Given the description of an element on the screen output the (x, y) to click on. 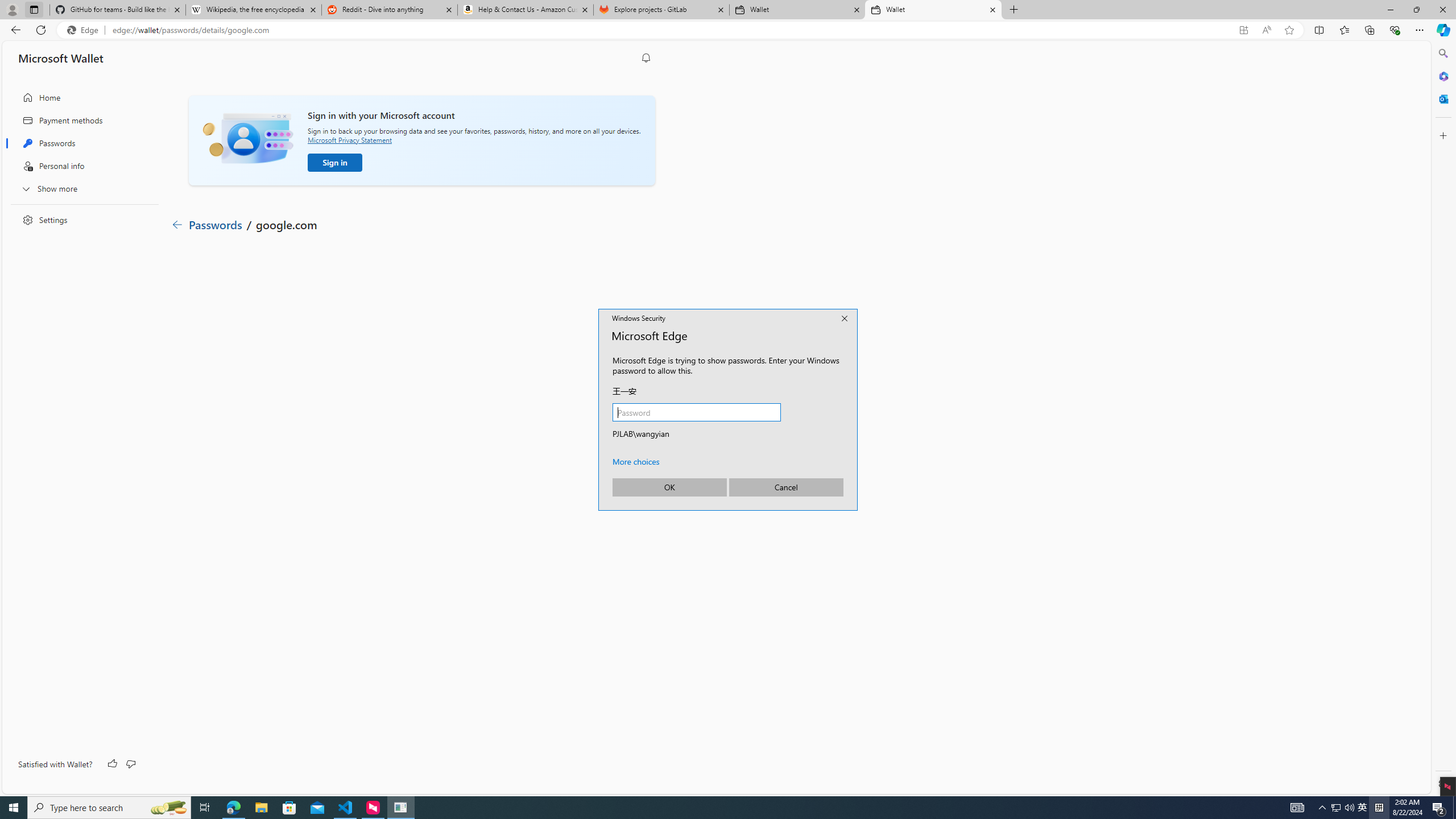
Type here to search (108, 807)
Passwords (81, 142)
OK (669, 487)
Edge (84, 29)
Password (696, 411)
Start (13, 807)
Visual Studio Code - 1 running window (345, 807)
Wallet (933, 9)
App available. Install Microsoft Wallet (1243, 29)
Add membership (427, 391)
Reddit - Dive into anything (390, 9)
Task View (204, 807)
